Given the description of an element on the screen output the (x, y) to click on. 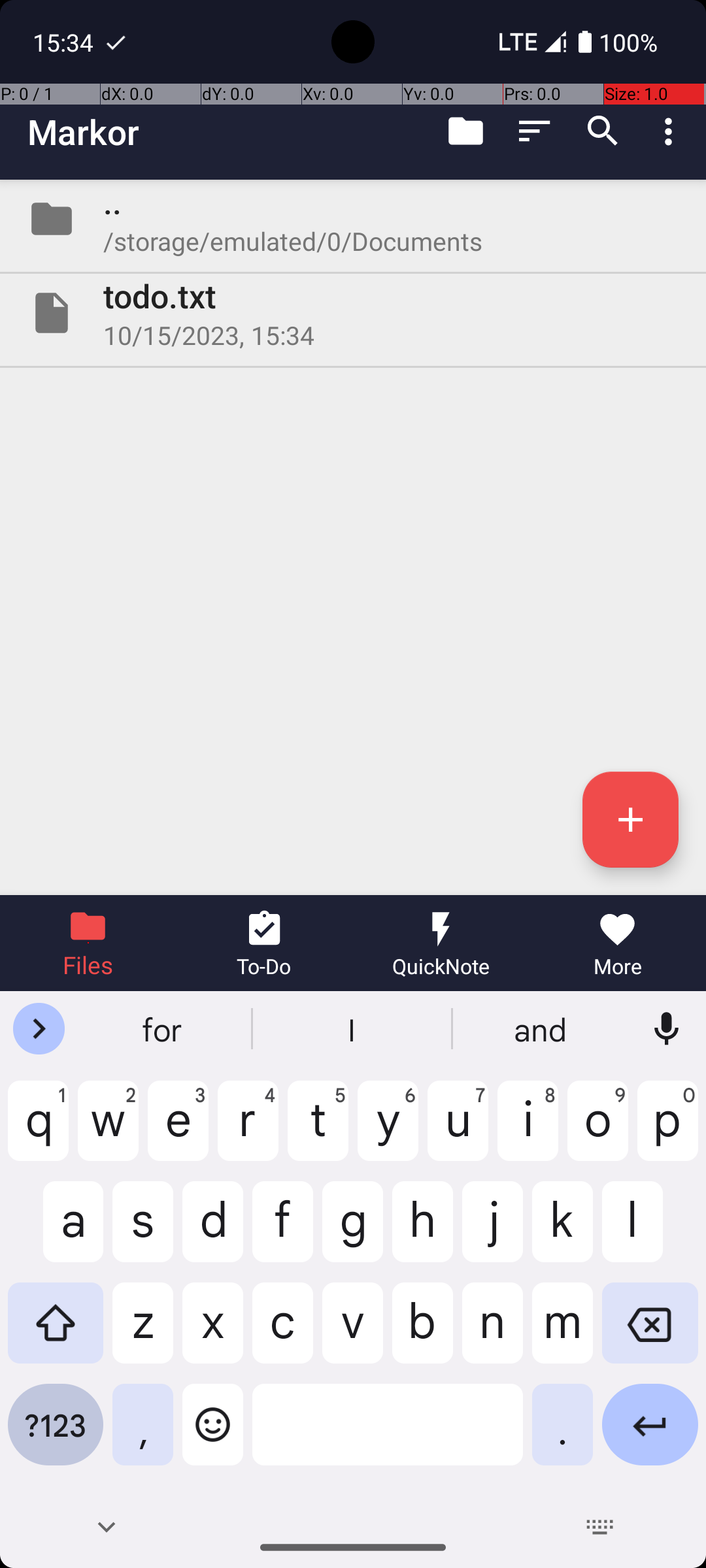
File todo.txt  Element type: android.widget.LinearLayout (353, 312)
for Element type: android.widget.FrameLayout (163, 1028)
and Element type: android.widget.FrameLayout (541, 1028)
